Given the description of an element on the screen output the (x, y) to click on. 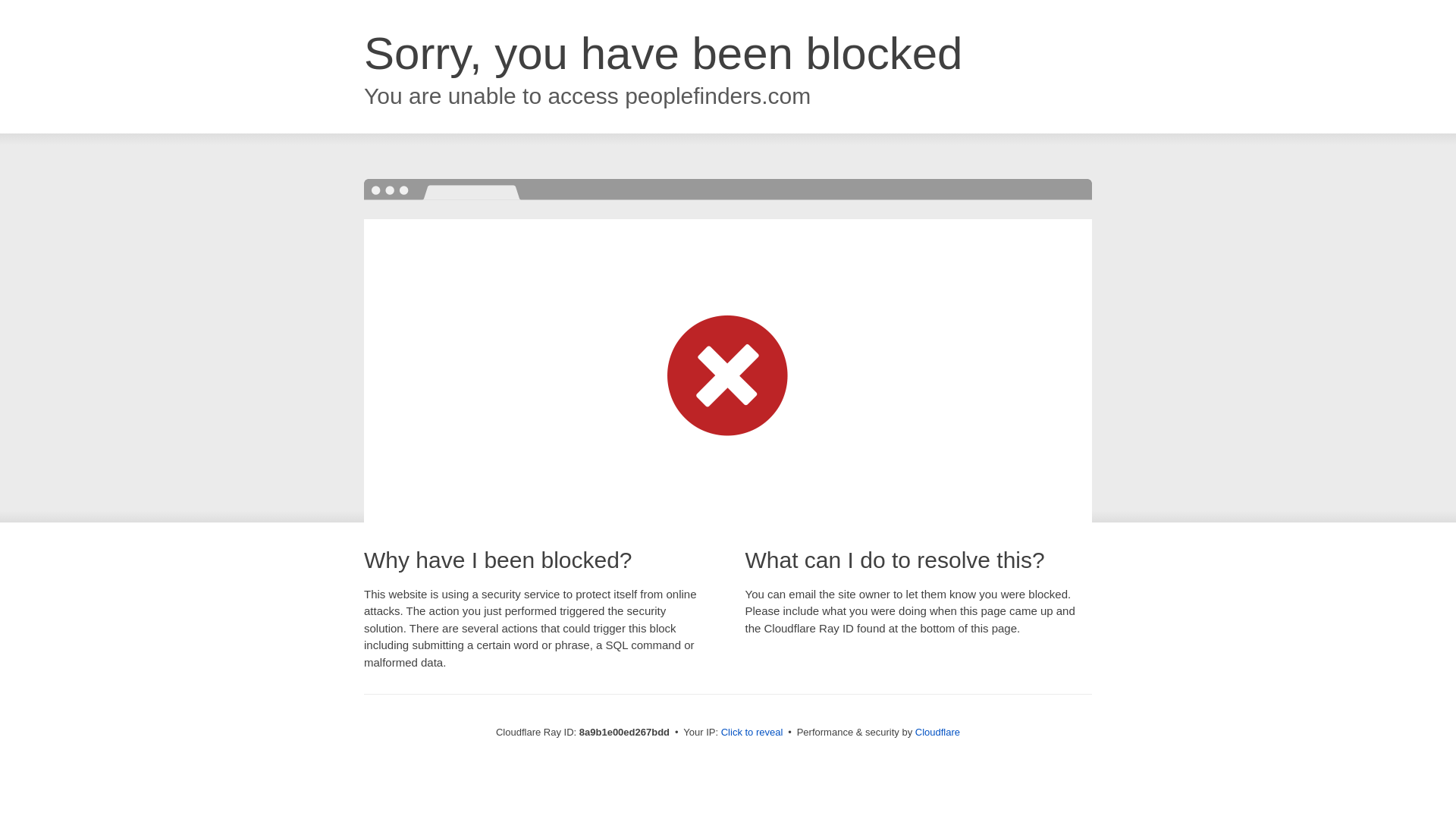
Cloudflare (937, 731)
Click to reveal (751, 732)
